Given the description of an element on the screen output the (x, y) to click on. 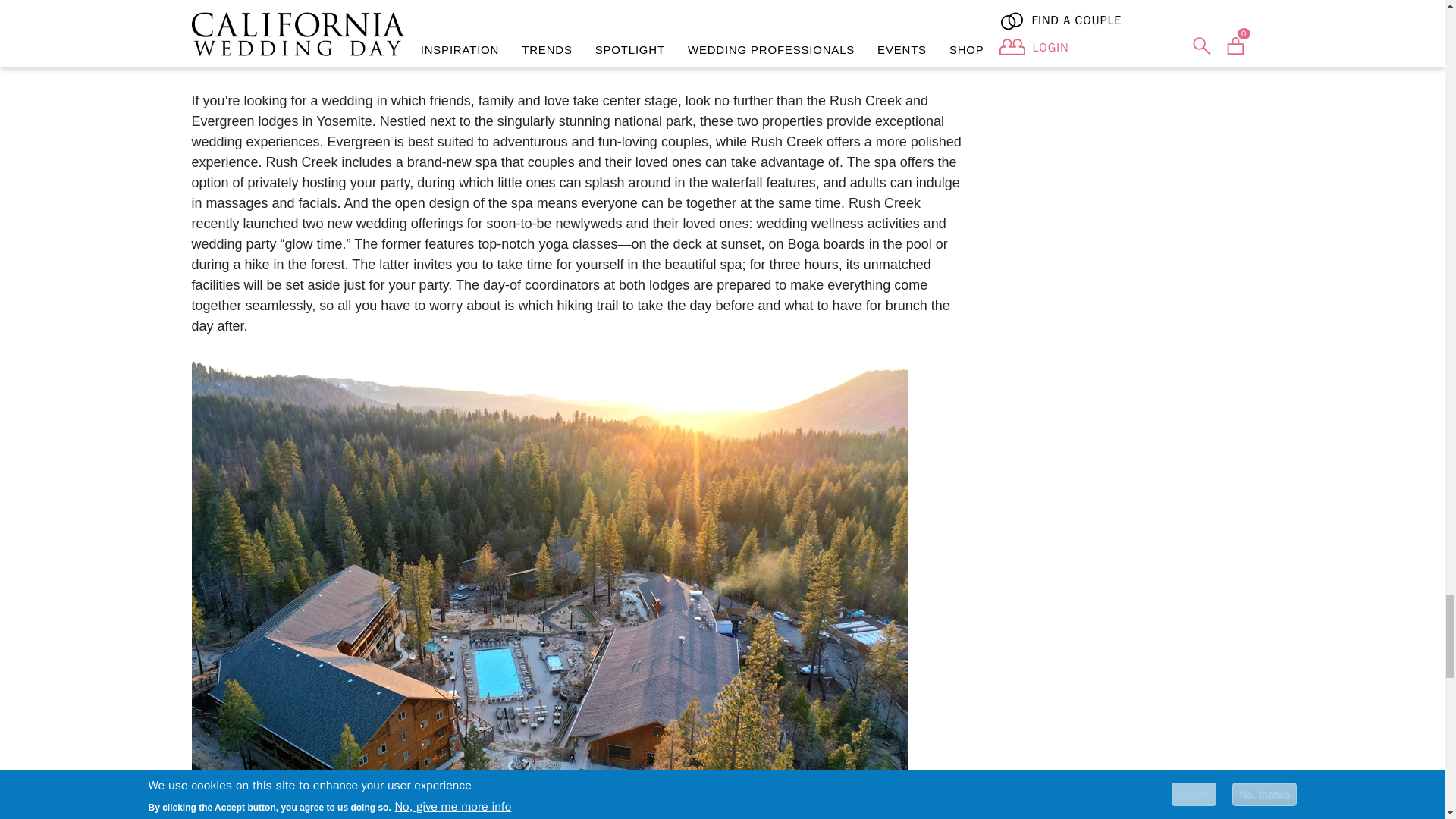
Photo by Braedon Photography (548, 12)
RUSH CREEK (235, 57)
EVERGREEN LODGES (390, 57)
